Given the description of an element on the screen output the (x, y) to click on. 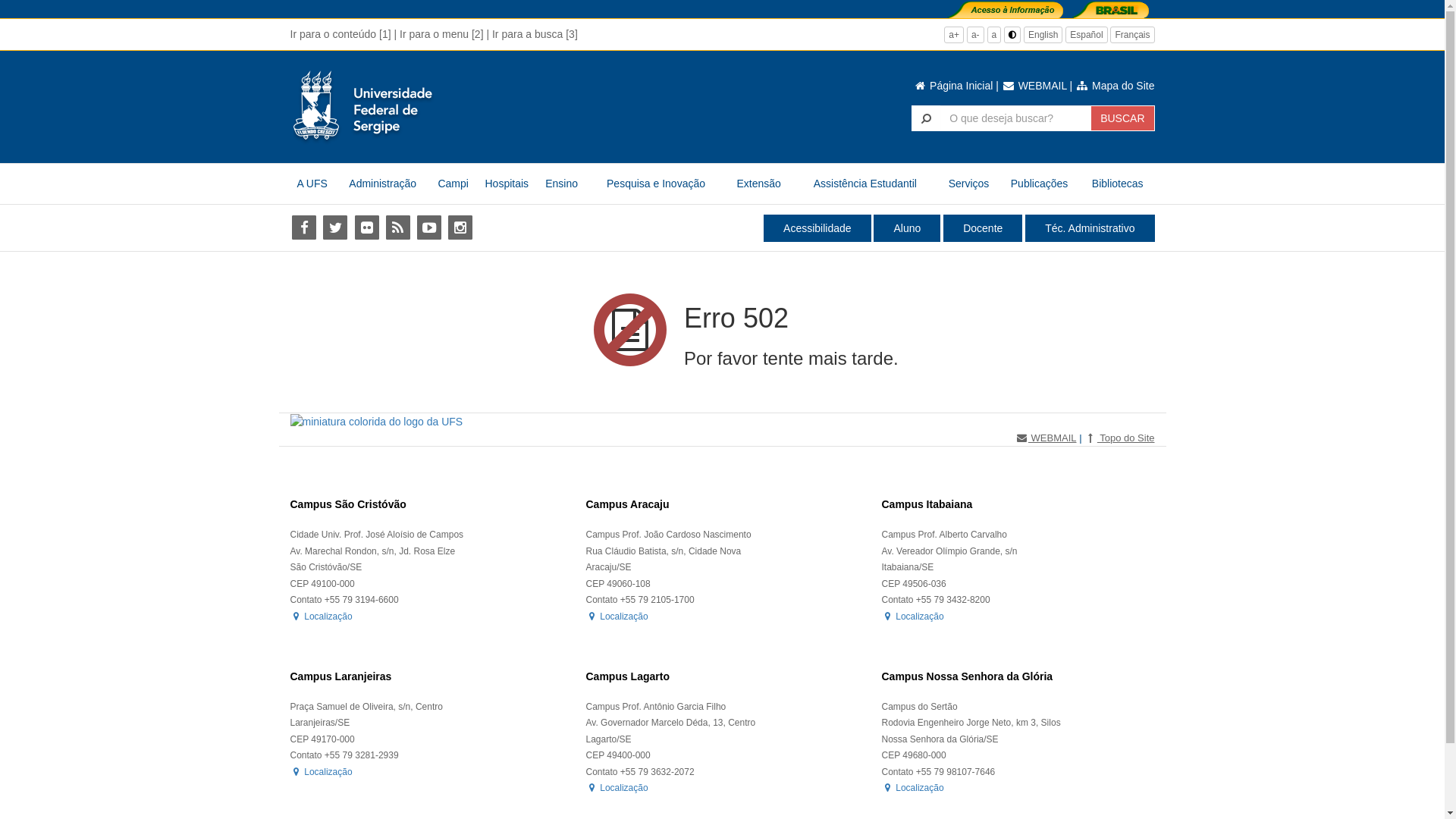
RSS Element type: text (397, 227)
WEBMAIL Element type: text (1033, 85)
WEBMAIL Element type: text (1045, 438)
BUSCAR Element type: text (1122, 118)
Topo do Site Element type: text (1119, 438)
English Element type: text (1042, 34)
Mapa do Site Element type: text (1114, 85)
Ir para o menu [2] Element type: text (441, 34)
Instagram Element type: text (460, 227)
Facebook Element type: text (303, 227)
a+ Element type: text (953, 34)
Ensino Element type: text (561, 183)
Acessibilidade Element type: text (817, 227)
Youtube Element type: text (428, 227)
Hospitais Element type: text (506, 183)
a Element type: text (994, 34)
A UFS Element type: text (311, 183)
Aluno Element type: text (906, 227)
a- Element type: text (975, 34)
Flickr Element type: text (366, 227)
Docente Element type: text (982, 227)
Ir para a busca [3] Element type: text (534, 34)
Campi Element type: text (453, 183)
Twitter Element type: text (335, 227)
Bibliotecas Element type: text (1117, 183)
